Given the description of an element on the screen output the (x, y) to click on. 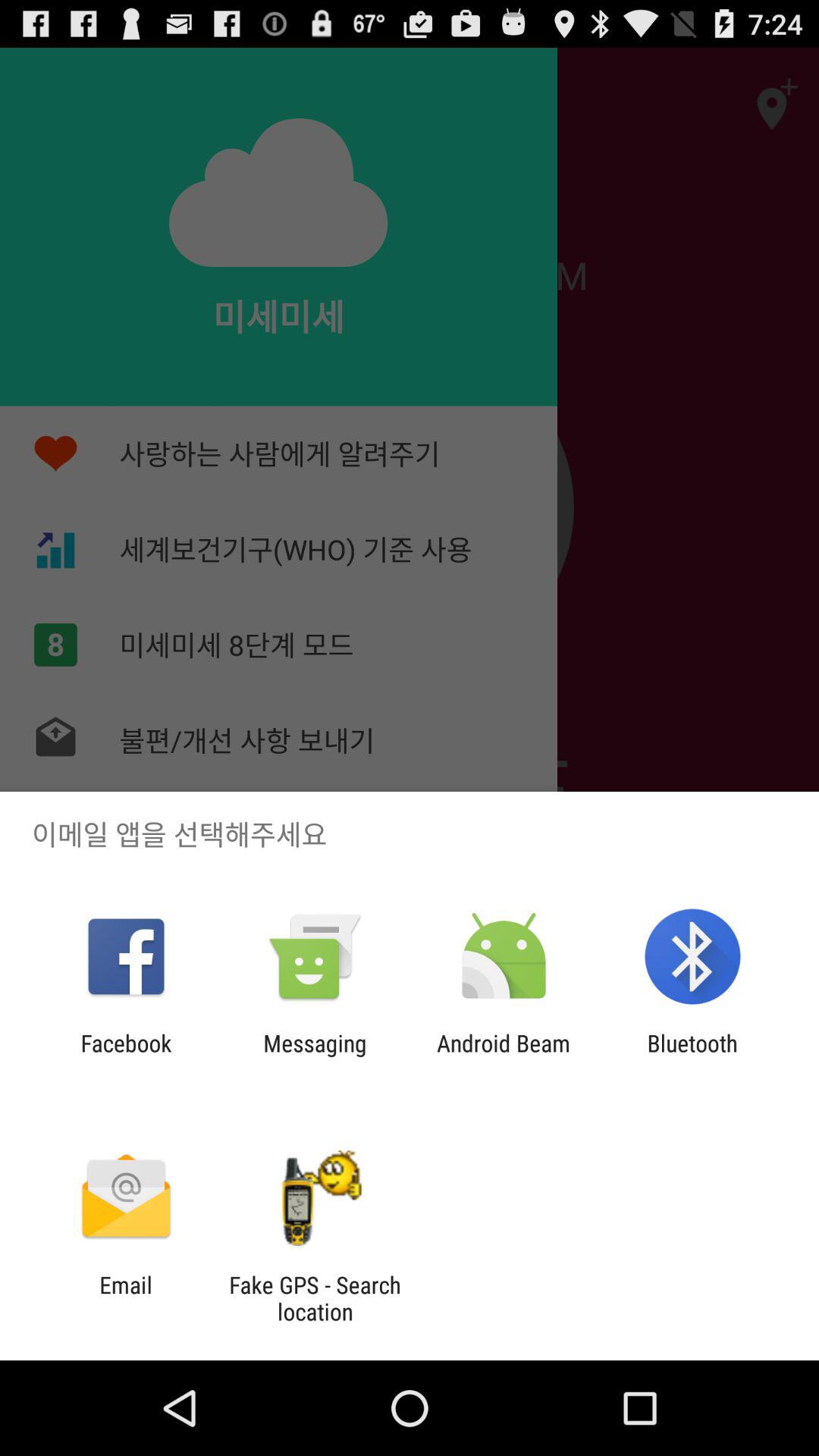
press item to the left of the fake gps search icon (125, 1298)
